Given the description of an element on the screen output the (x, y) to click on. 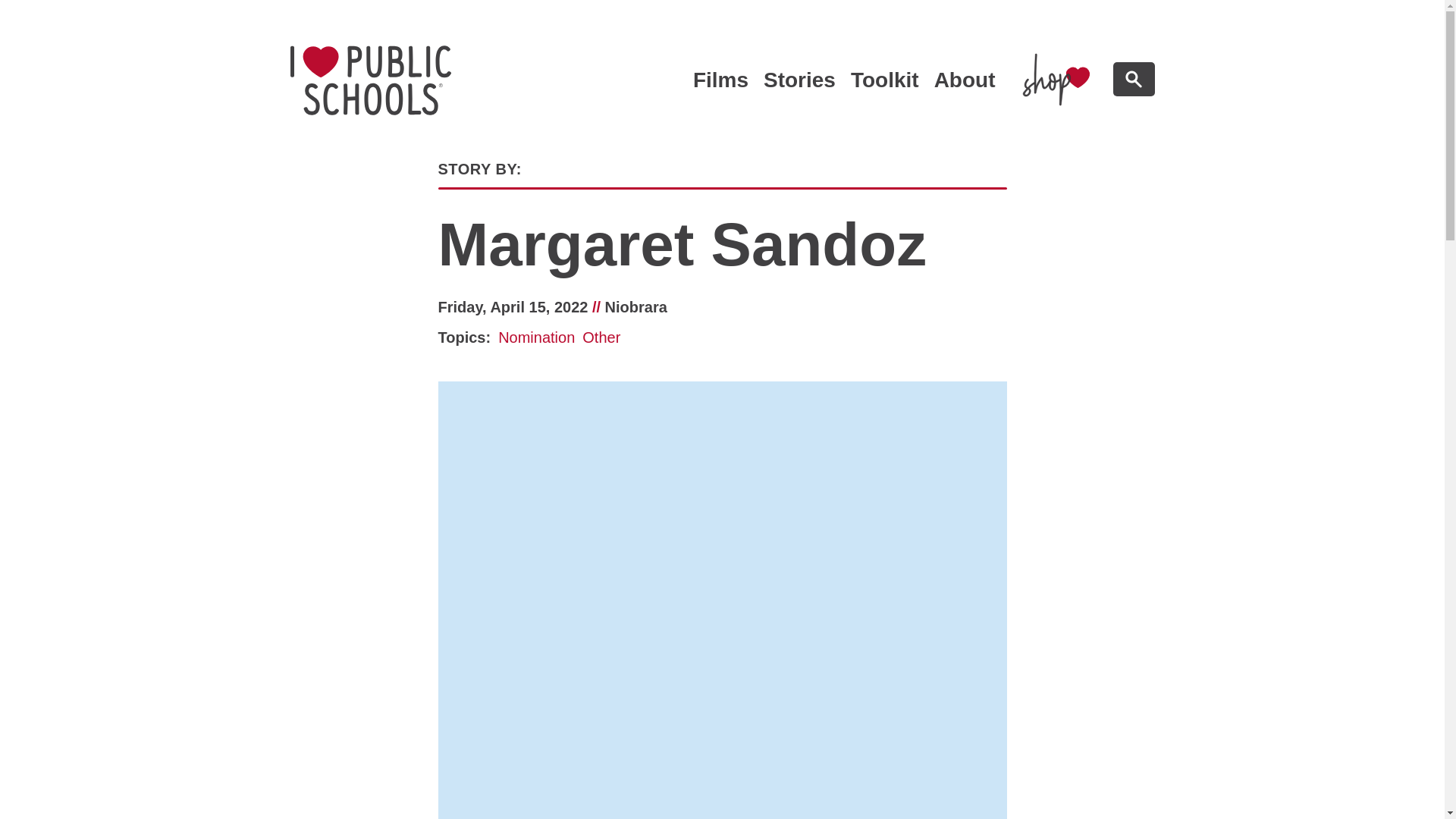
Shop (1055, 79)
Stories (798, 81)
Search (1133, 79)
Other (601, 338)
I Love Public Schools (370, 79)
About (370, 79)
Shop (964, 81)
Toolkit (1055, 79)
Nomination (884, 81)
